Given the description of an element on the screen output the (x, y) to click on. 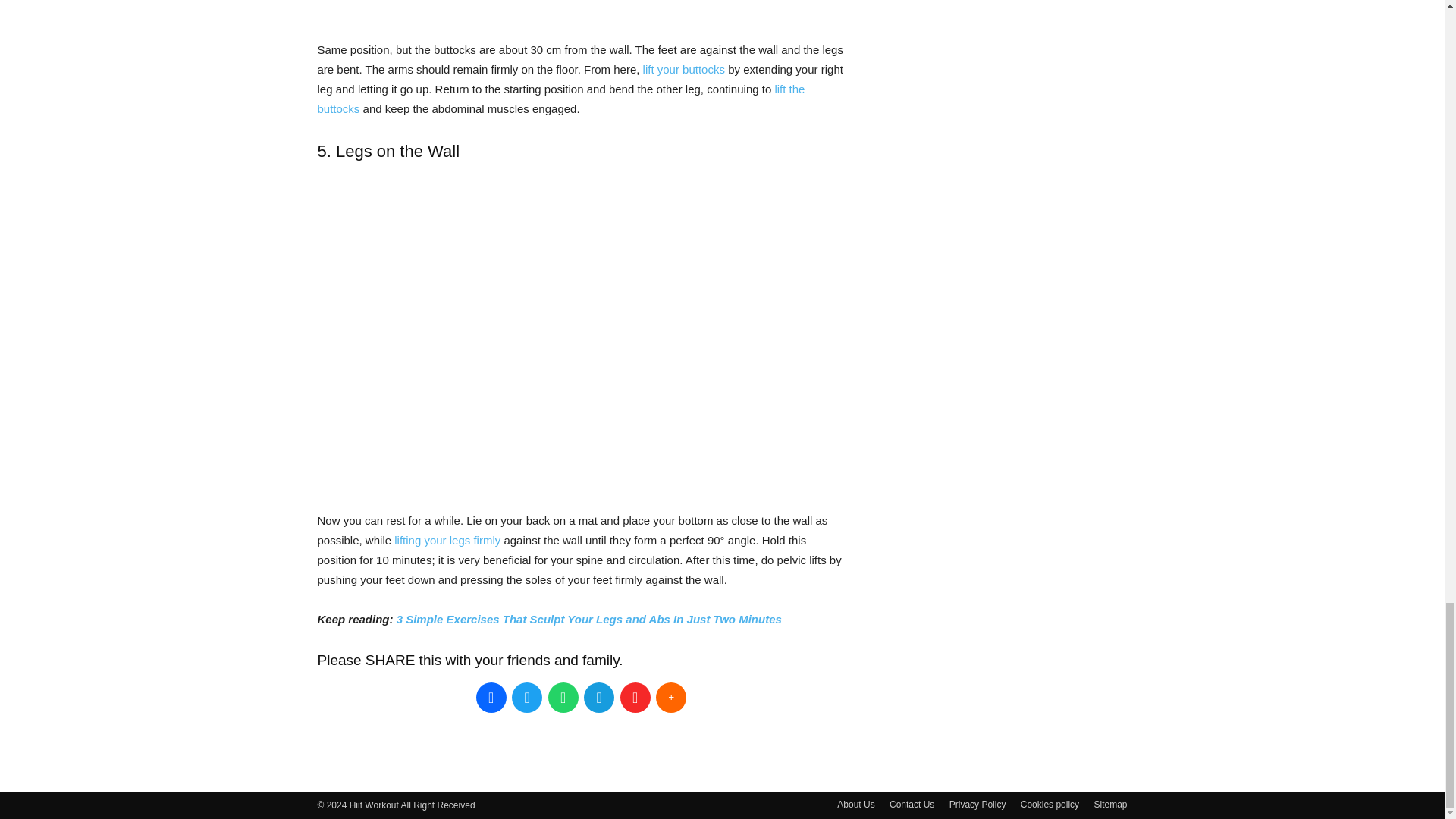
Tweet this ! (526, 697)
Telegram (598, 697)
lift the buttocks (561, 98)
Flipboard (635, 697)
lift your buttocks (684, 69)
Share this on Facebook (491, 697)
WhatsApp (563, 697)
